Given the description of an element on the screen output the (x, y) to click on. 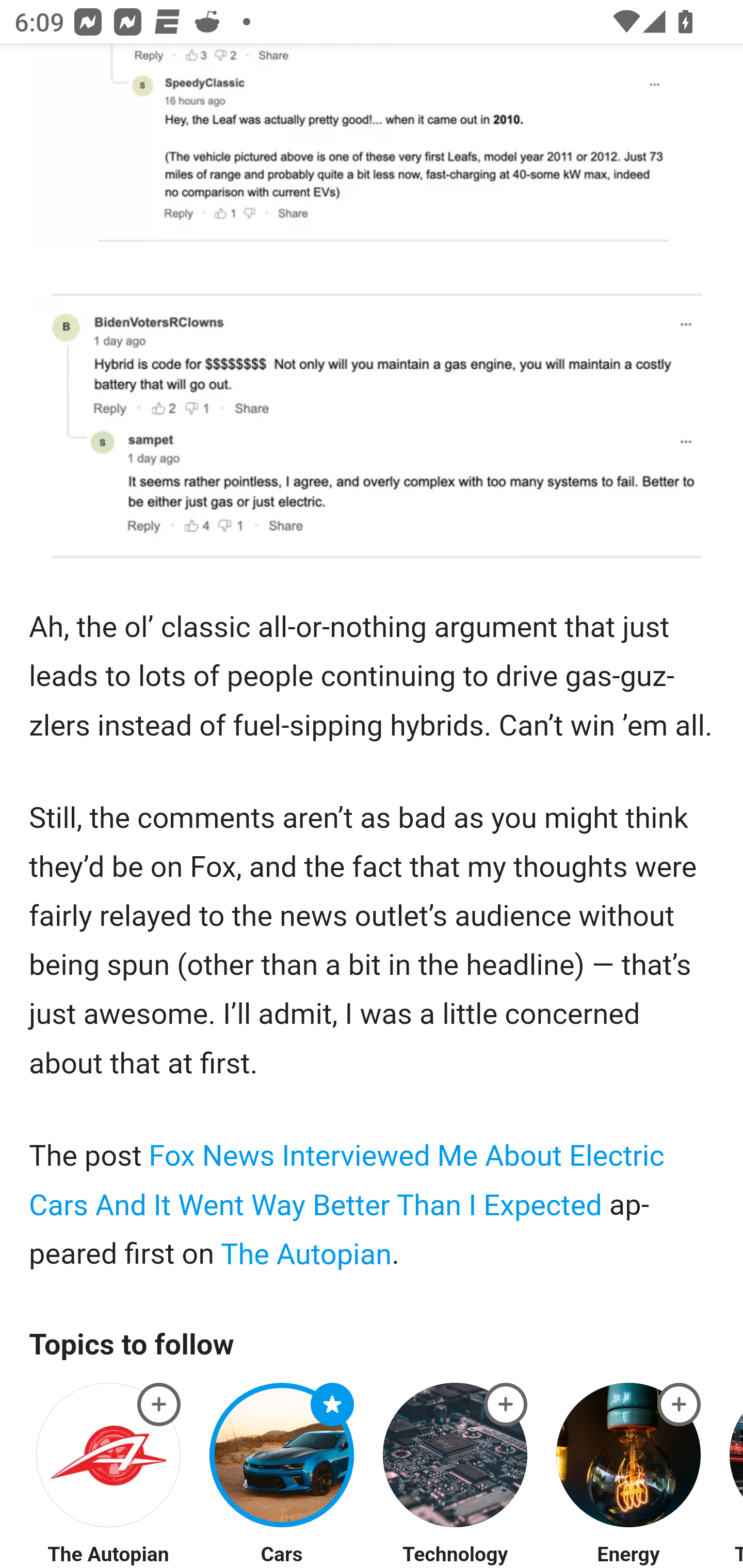
The Autopian (306, 1253)
The Autopian (107, 1554)
Cars (281, 1554)
Technology (454, 1554)
Energy (628, 1554)
Transportation (738, 1554)
